Given the description of an element on the screen output the (x, y) to click on. 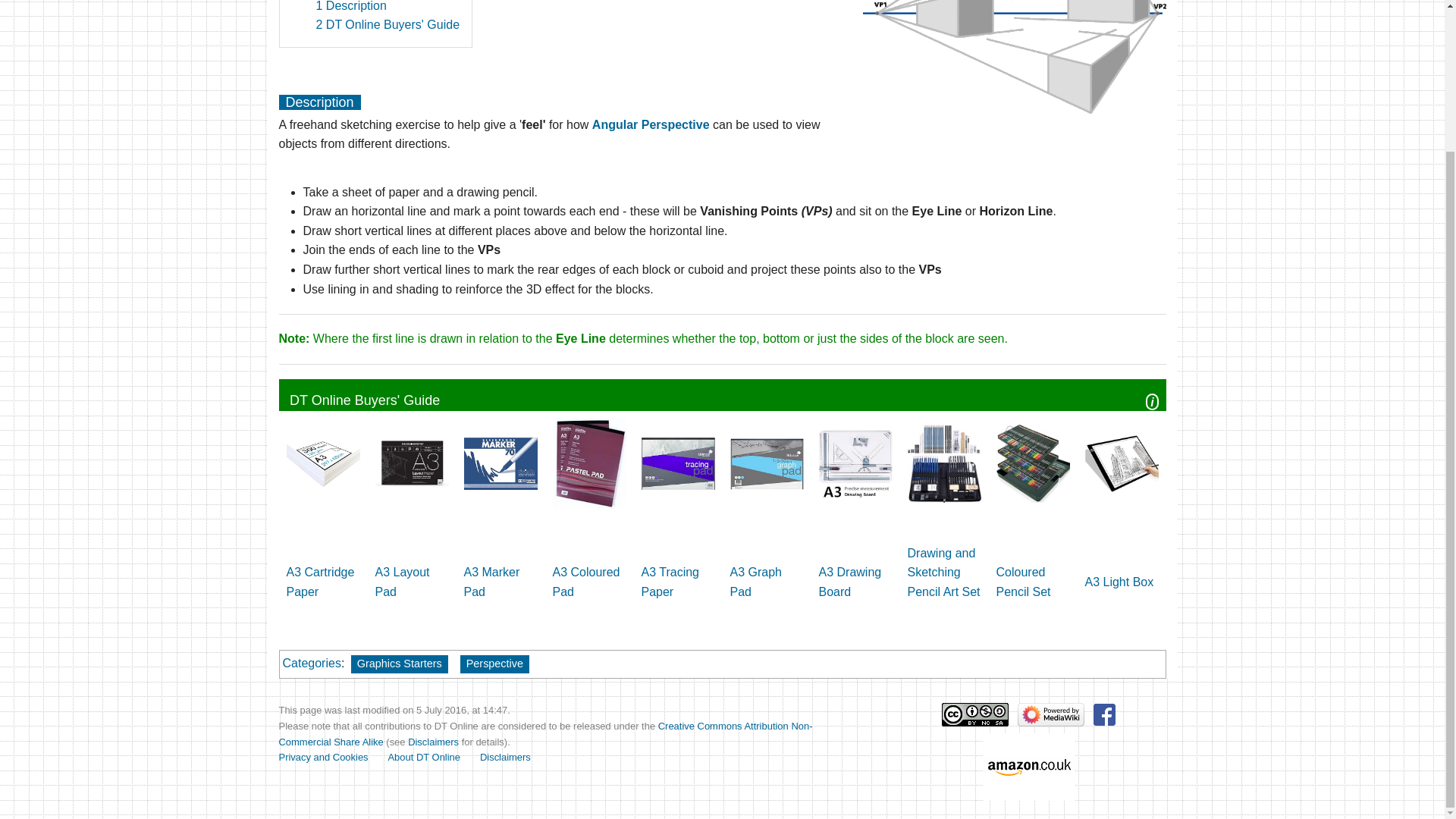
1 Description (350, 6)
More information about this page (1382, 46)
Page information (1382, 46)
Angular Perspective (651, 124)
2 DT Online Buyers' Guide (387, 24)
Category:Perspective (651, 124)
Permanent link to this revision of this page (1382, 14)
List files (126, 14)
Special:RecentChanges (1382, 80)
Recent changes (1382, 80)
Permanent link (1382, 14)
